Given the description of an element on the screen output the (x, y) to click on. 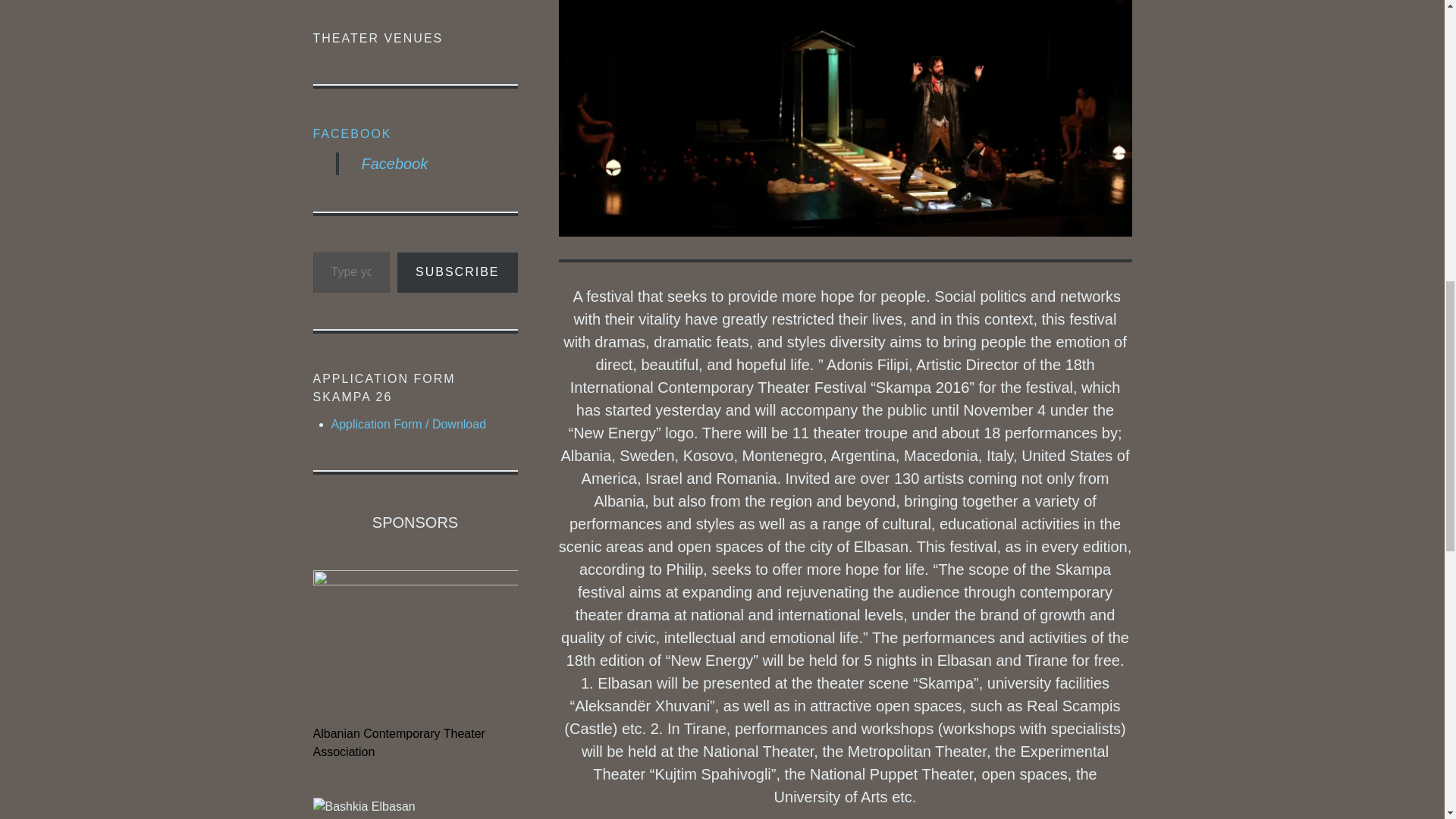
Facebook (394, 163)
FACEBOOK (352, 133)
SUBSCRIBE (456, 272)
Please fill in this field. (351, 272)
